Given the description of an element on the screen output the (x, y) to click on. 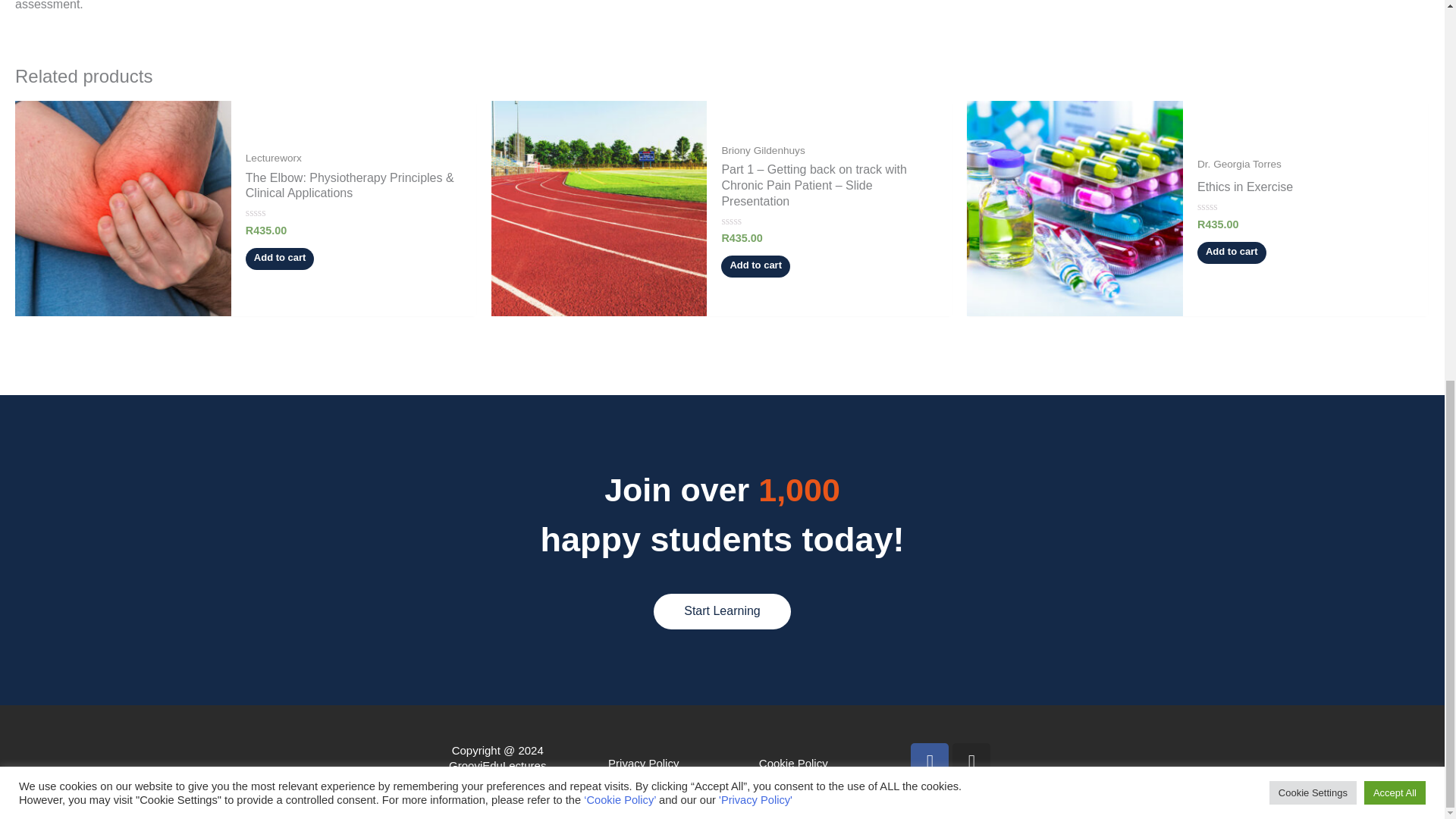
Add to cart (280, 259)
Add to cart (755, 266)
